Given the description of an element on the screen output the (x, y) to click on. 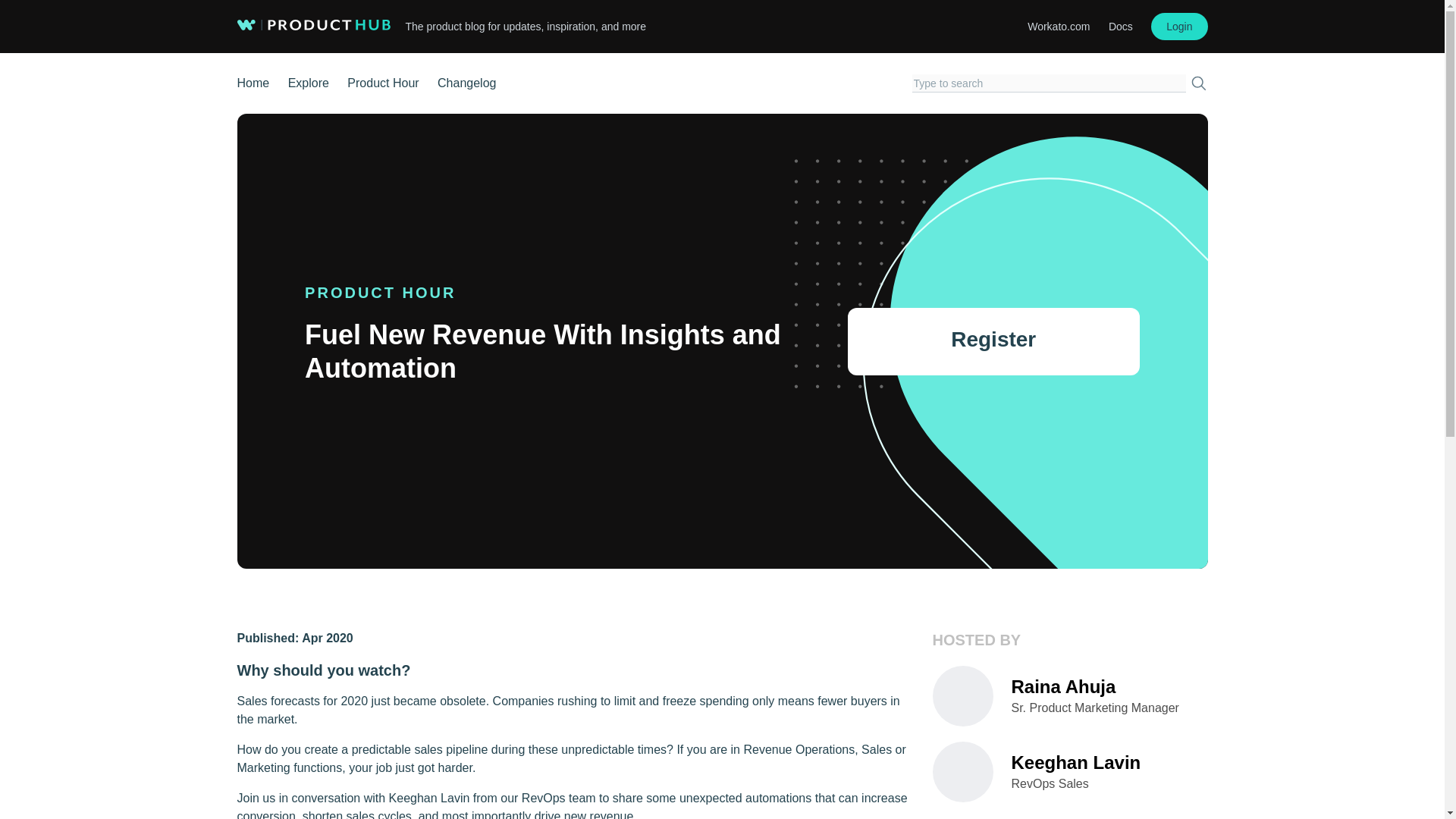
Docs (1120, 26)
Login (1179, 26)
Home (252, 82)
Product Hour (383, 82)
Explore (308, 82)
Changelog (467, 82)
Workato.com (1058, 26)
